Given the description of an element on the screen output the (x, y) to click on. 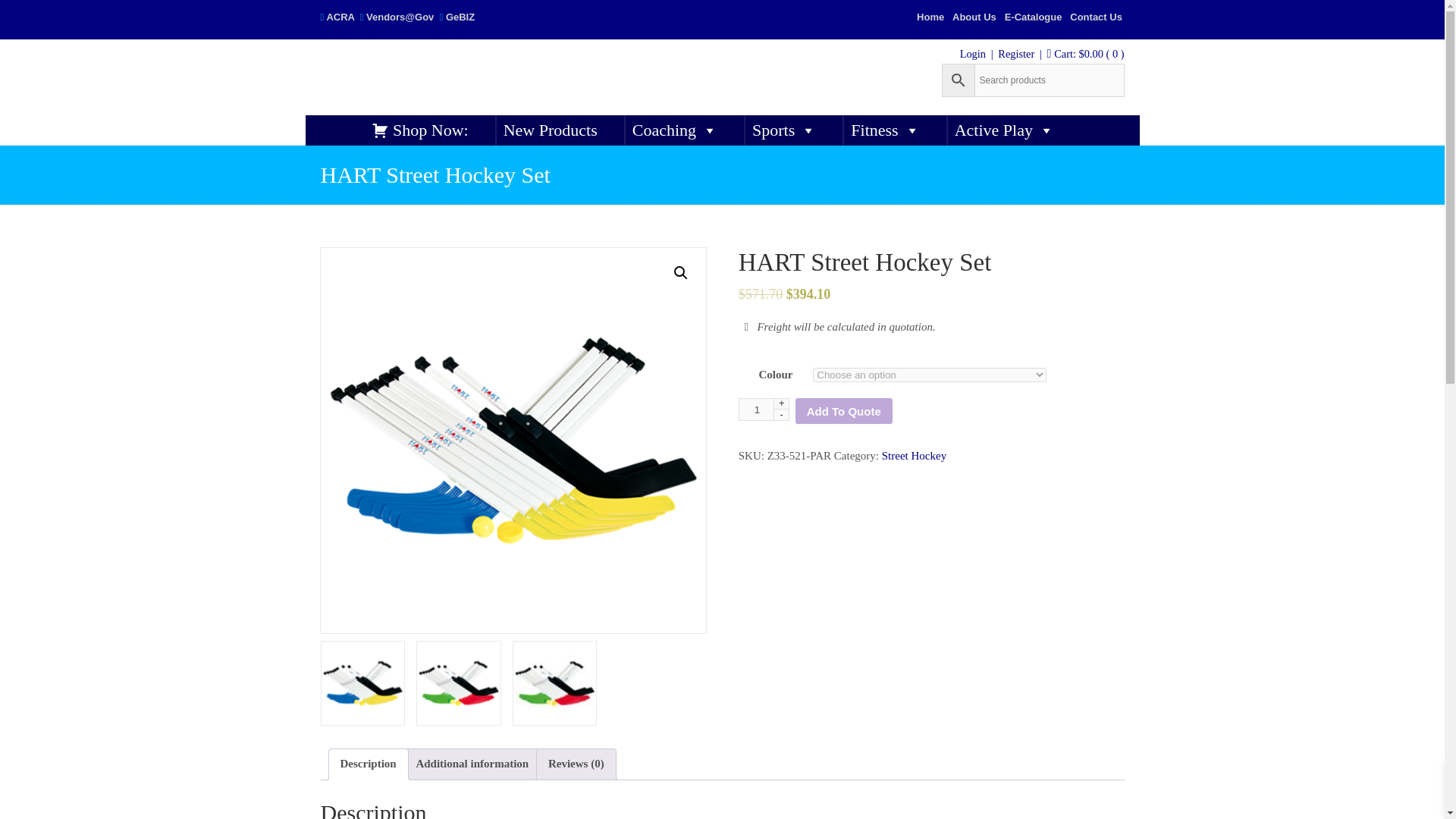
Coaching (674, 130)
Contact Us (1096, 16)
Register (1015, 53)
Login (972, 53)
Shop Now: (420, 130)
Home (929, 16)
1 (763, 409)
New Products (550, 130)
View your shopping cart (1089, 53)
E-Catalogue (1033, 16)
About Us (973, 16)
Register (1015, 53)
Login (972, 53)
